Given the description of an element on the screen output the (x, y) to click on. 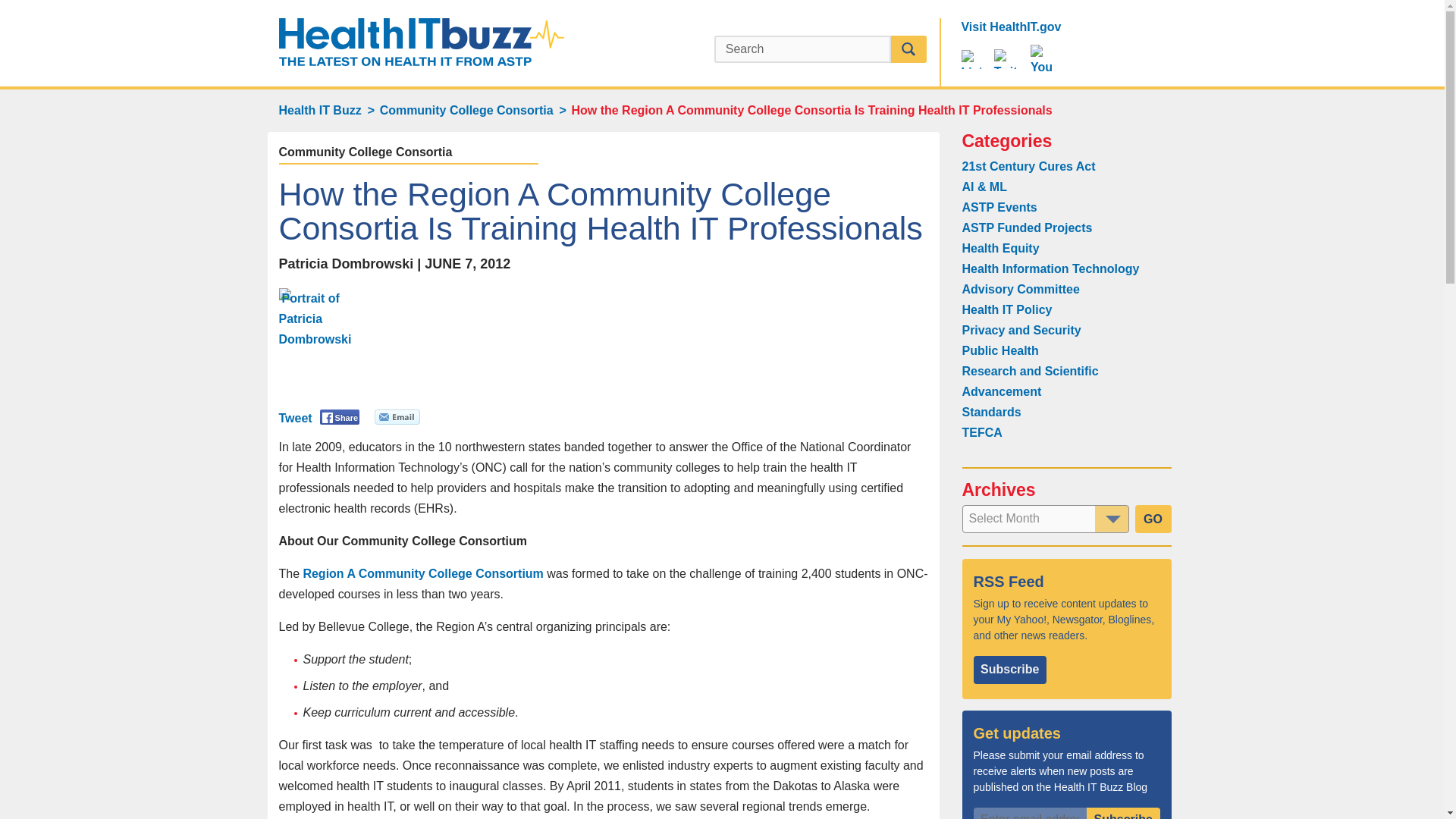
Community College Consortia (466, 110)
Visit HealthIT.gov (1010, 26)
Research and Scientific Advancement (1028, 381)
Go to Health IT Buzz. (320, 110)
ASTP Funded Projects (1026, 227)
Email (397, 418)
opens new window to LinkedIn (970, 58)
Privacy and Security (1020, 329)
Subscribe (1123, 813)
